Given the description of an element on the screen output the (x, y) to click on. 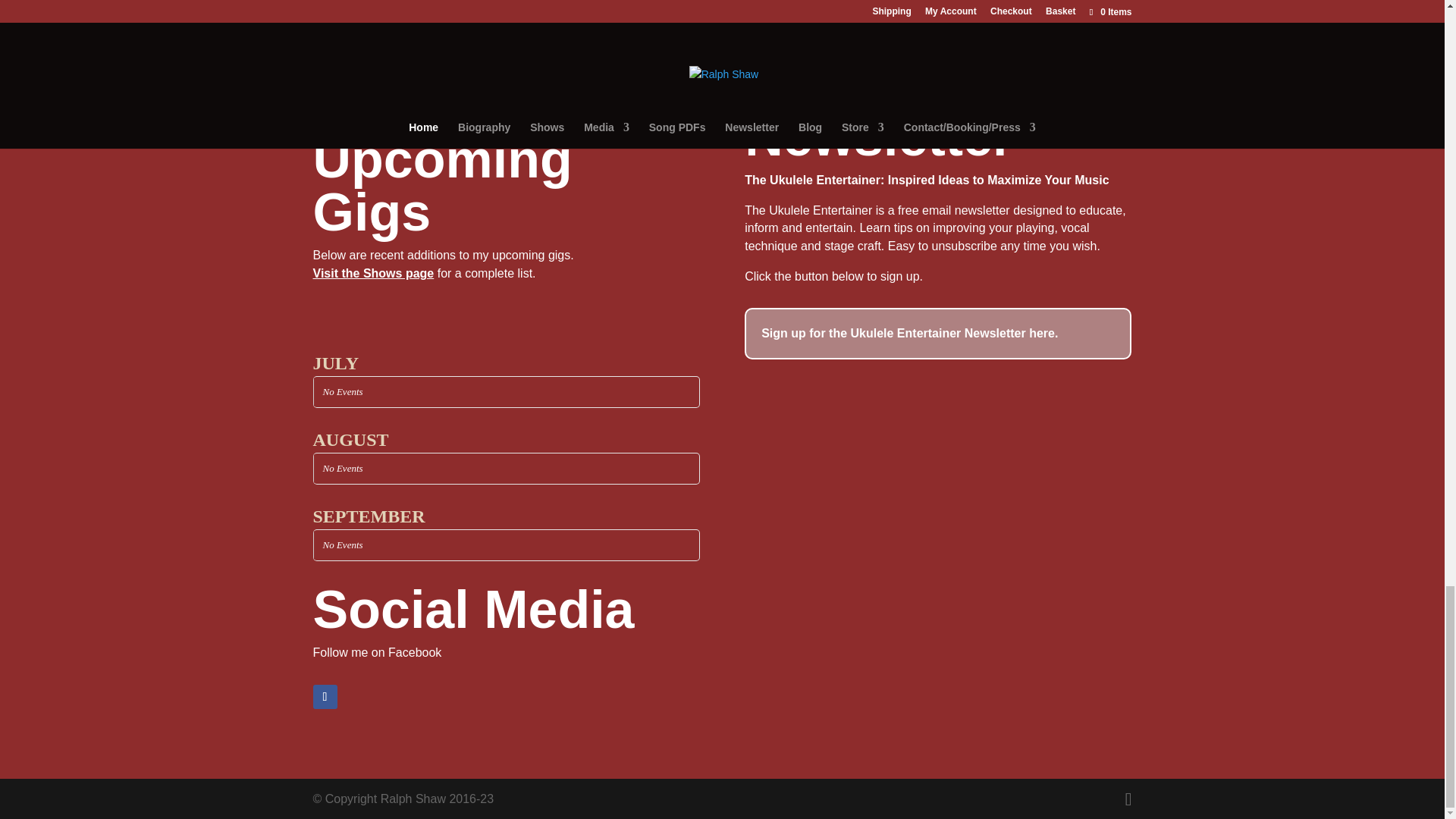
Sign up for the Ukulele Entertainer Newsletter here. (937, 333)
Visit the Shows page (373, 273)
Follow on Facebook (324, 696)
